Given the description of an element on the screen output the (x, y) to click on. 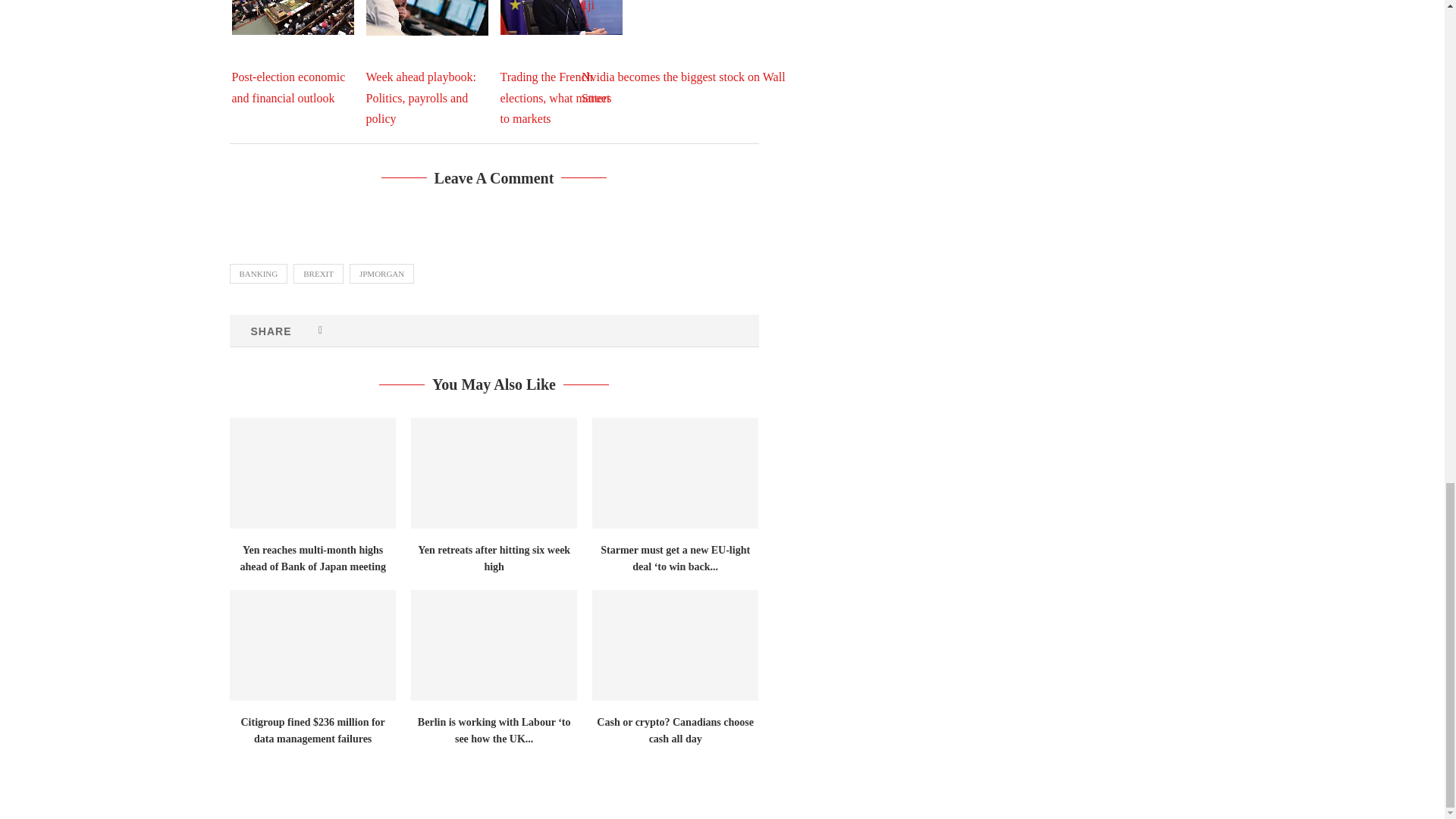
Yen retreats after hitting six week high (493, 472)
Yen reaches multi-month highs ahead of Bank of Japan meeting (311, 472)
Nvidia becomes the biggest stock on Wall Street (694, 52)
Trading the French elections, what matters to markets (561, 17)
Post-election economic and financial outlook (292, 17)
Cash or crypto? Canadians choose cash all day (675, 645)
Week ahead playbook: Politics, payrolls and policy (426, 17)
